Given the description of an element on the screen output the (x, y) to click on. 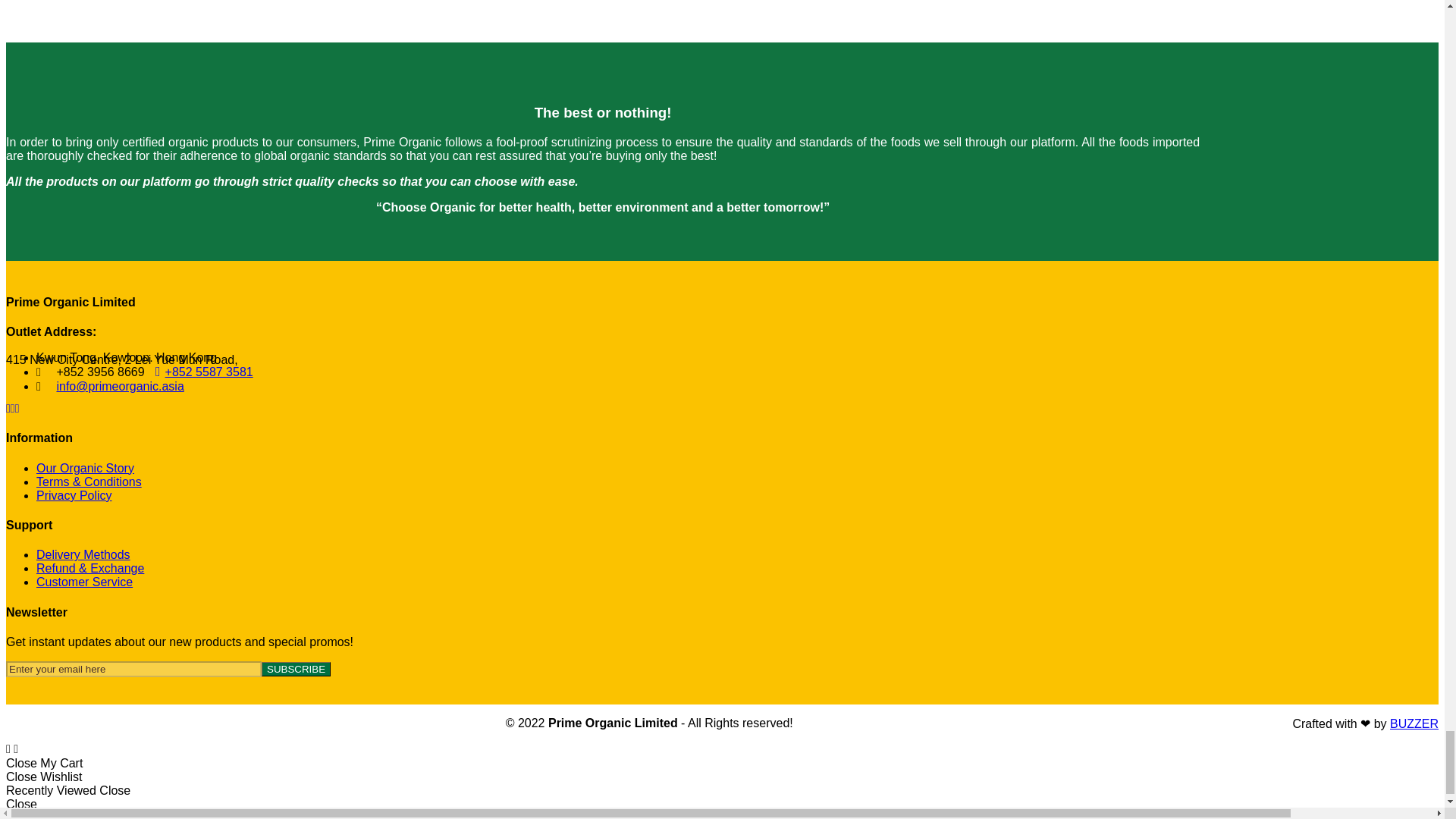
BUZZER (1414, 723)
Privacy Policy (74, 495)
Delivery Methods (83, 554)
SUBSCRIBE (296, 668)
Close (115, 789)
Close (21, 762)
Close (21, 803)
SUBSCRIBE (296, 668)
Close (22, 776)
Our Organic Story (84, 468)
